Given the description of an element on the screen output the (x, y) to click on. 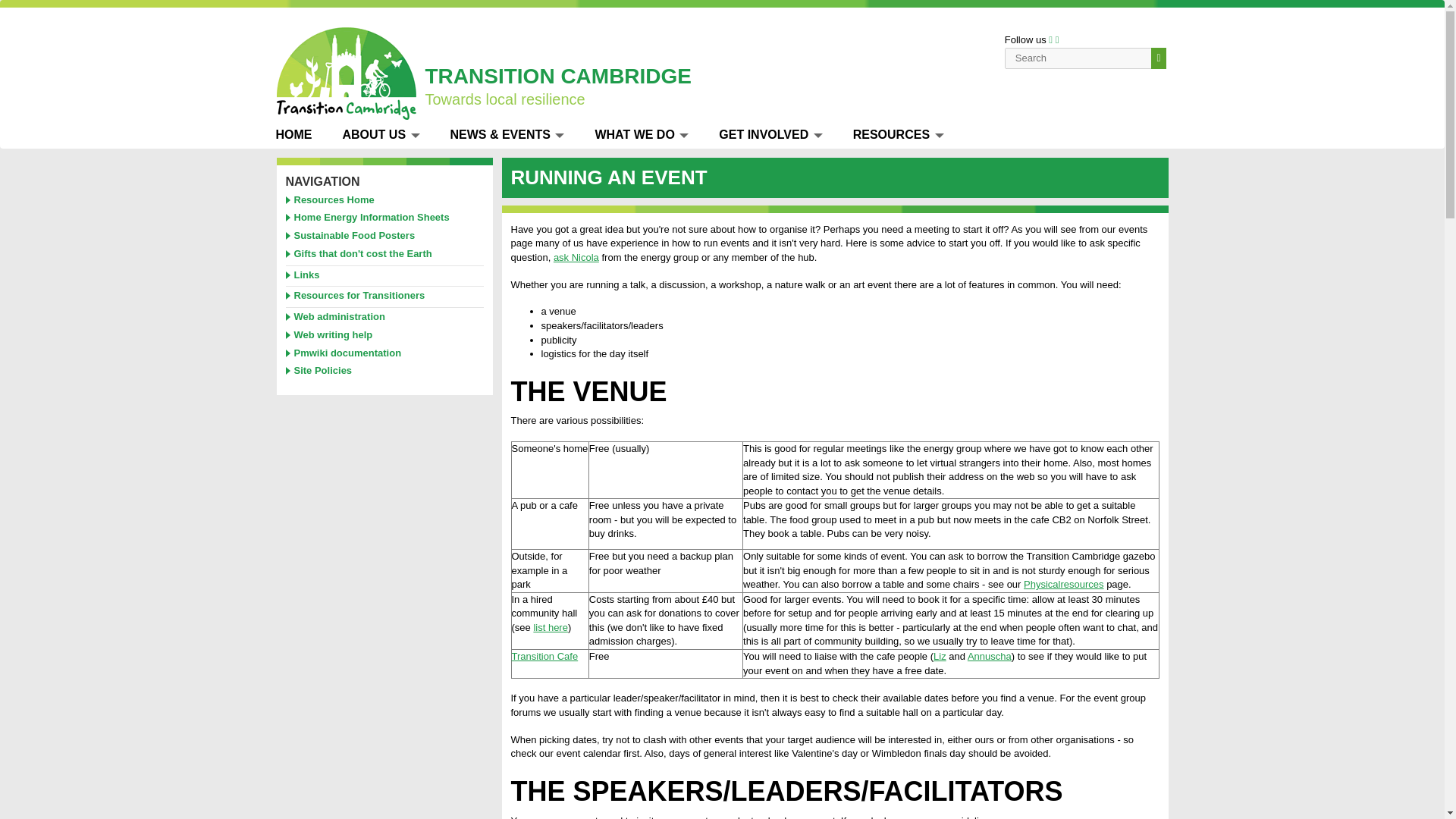
WHAT WE DO (641, 134)
GET INVOLVED (770, 134)
ABOUT US (381, 134)
HOME (293, 134)
TRANSITION CAMBRIDGE (558, 75)
